Given the description of an element on the screen output the (x, y) to click on. 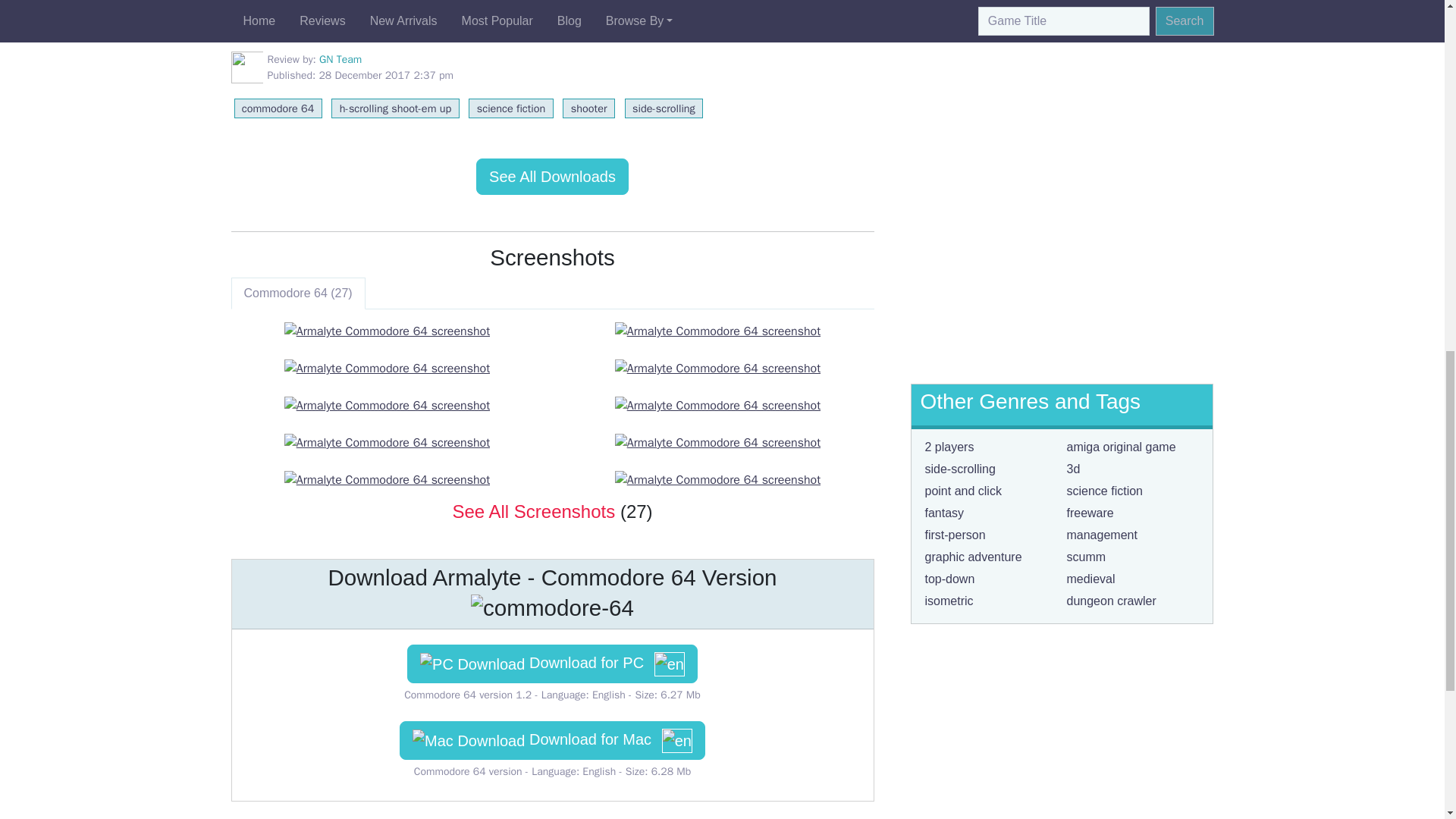
commodore 64 (276, 107)
science fiction (510, 107)
shooter (588, 107)
h-scrolling shoot-em up (394, 107)
commodore-64 (551, 607)
